Given the description of an element on the screen output the (x, y) to click on. 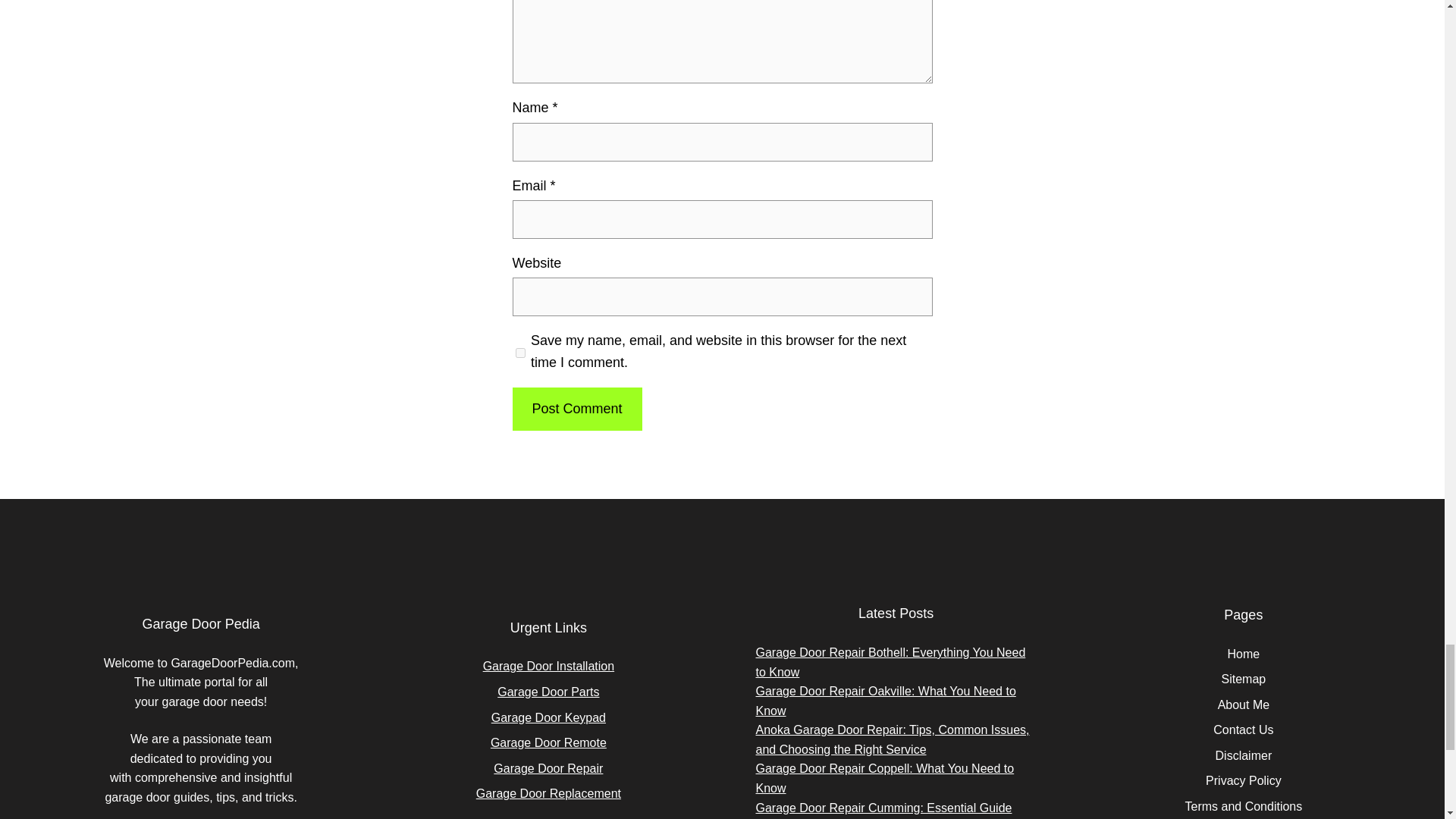
Garage Door Repair (547, 768)
Garage Door Parts (547, 691)
Garage Door Keypad (548, 717)
Post Comment (577, 408)
Garage Door Remote (548, 742)
Garage Door Replacement (548, 793)
Garage Door Installation (548, 666)
Post Comment (577, 408)
